Given the description of an element on the screen output the (x, y) to click on. 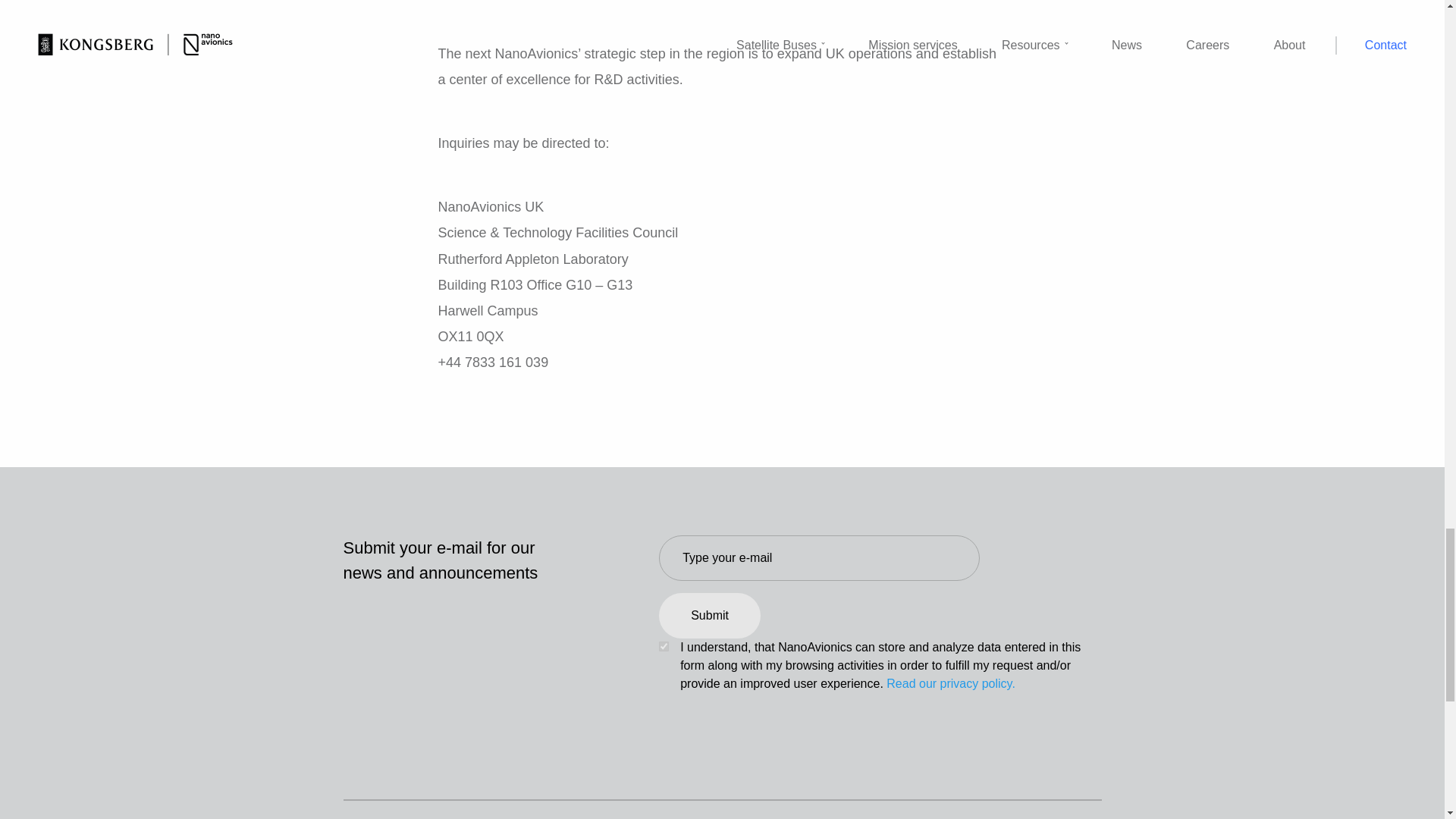
Submit (709, 615)
Yes (663, 646)
